Given the description of an element on the screen output the (x, y) to click on. 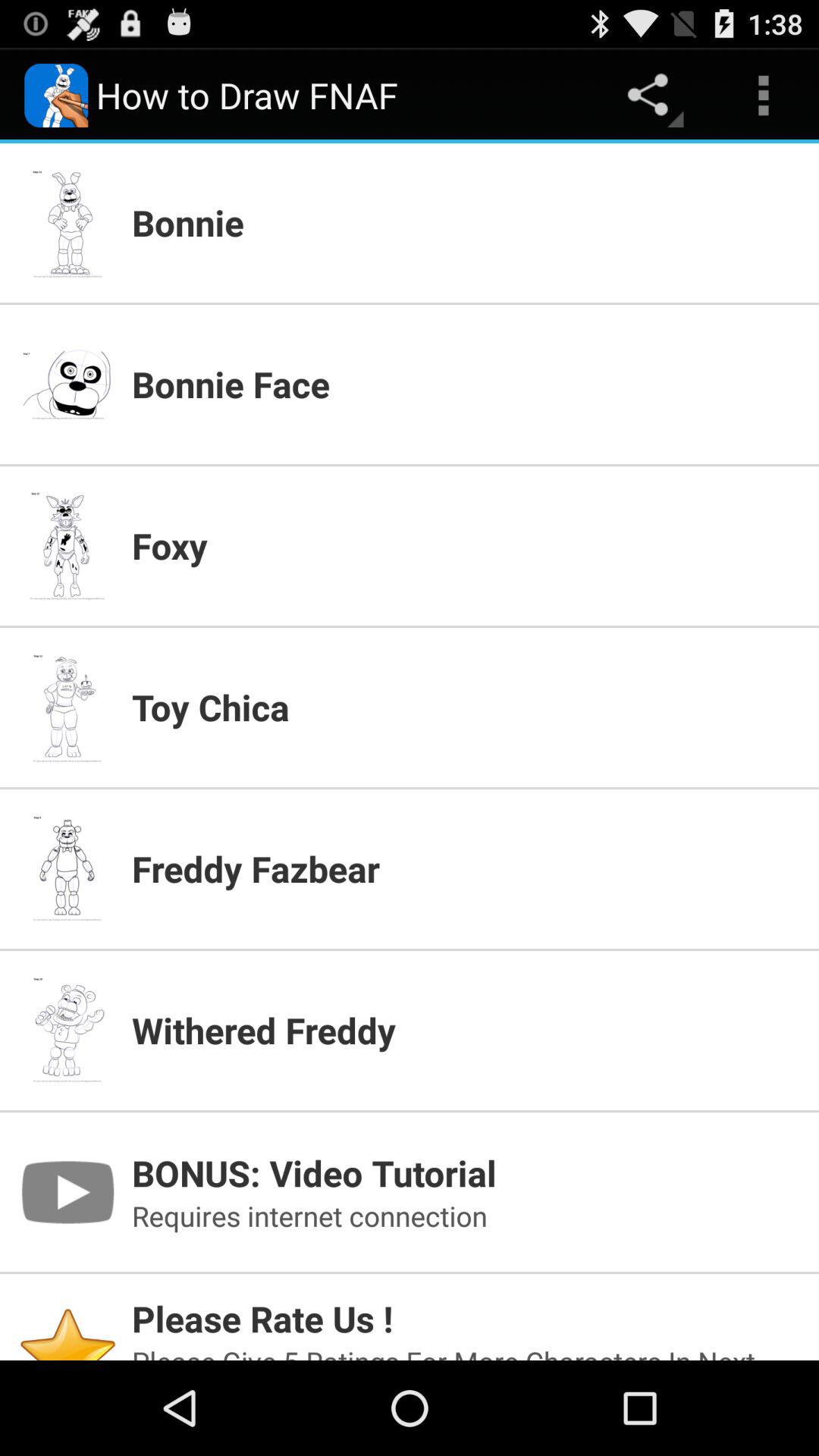
press bonnie face item (465, 384)
